Given the description of an element on the screen output the (x, y) to click on. 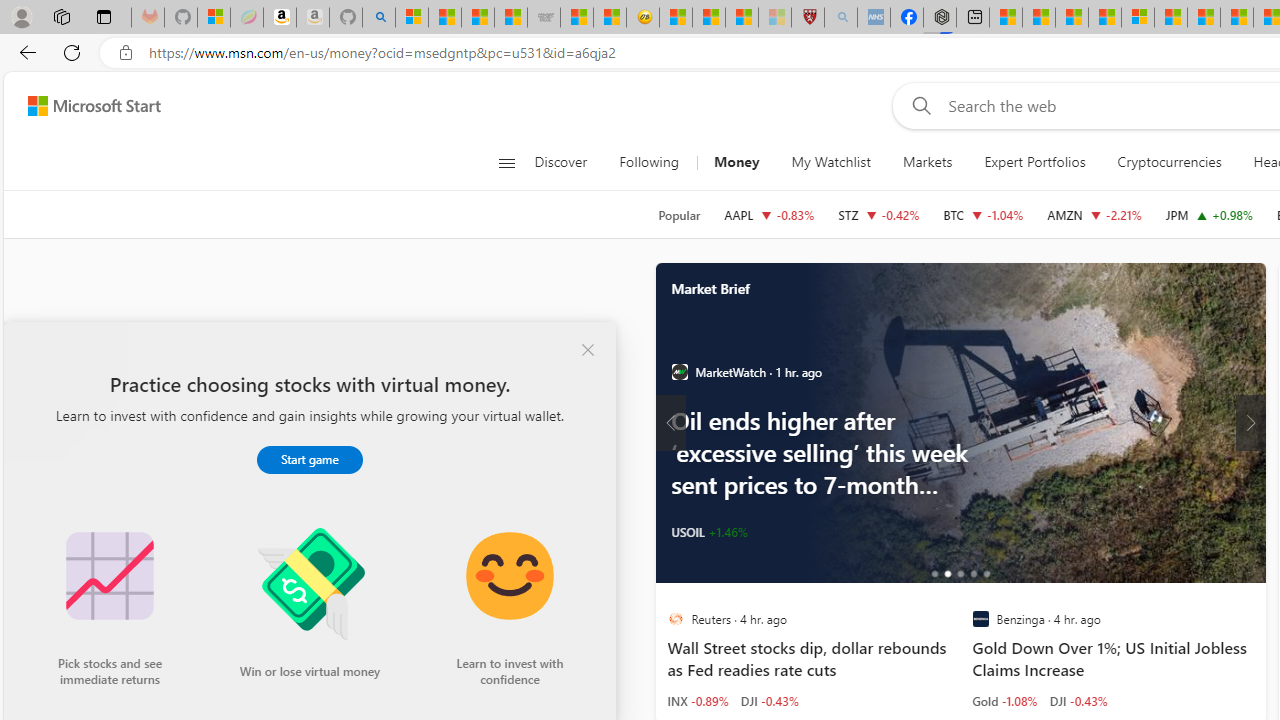
12 Popular Science Lies that Must be Corrected - Sleeping (775, 17)
My Watchlist (830, 162)
AMZN AMAZON.COM, INC. decrease 176.13 -3.98 -2.21% (1094, 214)
Gold -1.08% (1004, 700)
Reuters (674, 619)
Markets (927, 162)
